Given the description of an element on the screen output the (x, y) to click on. 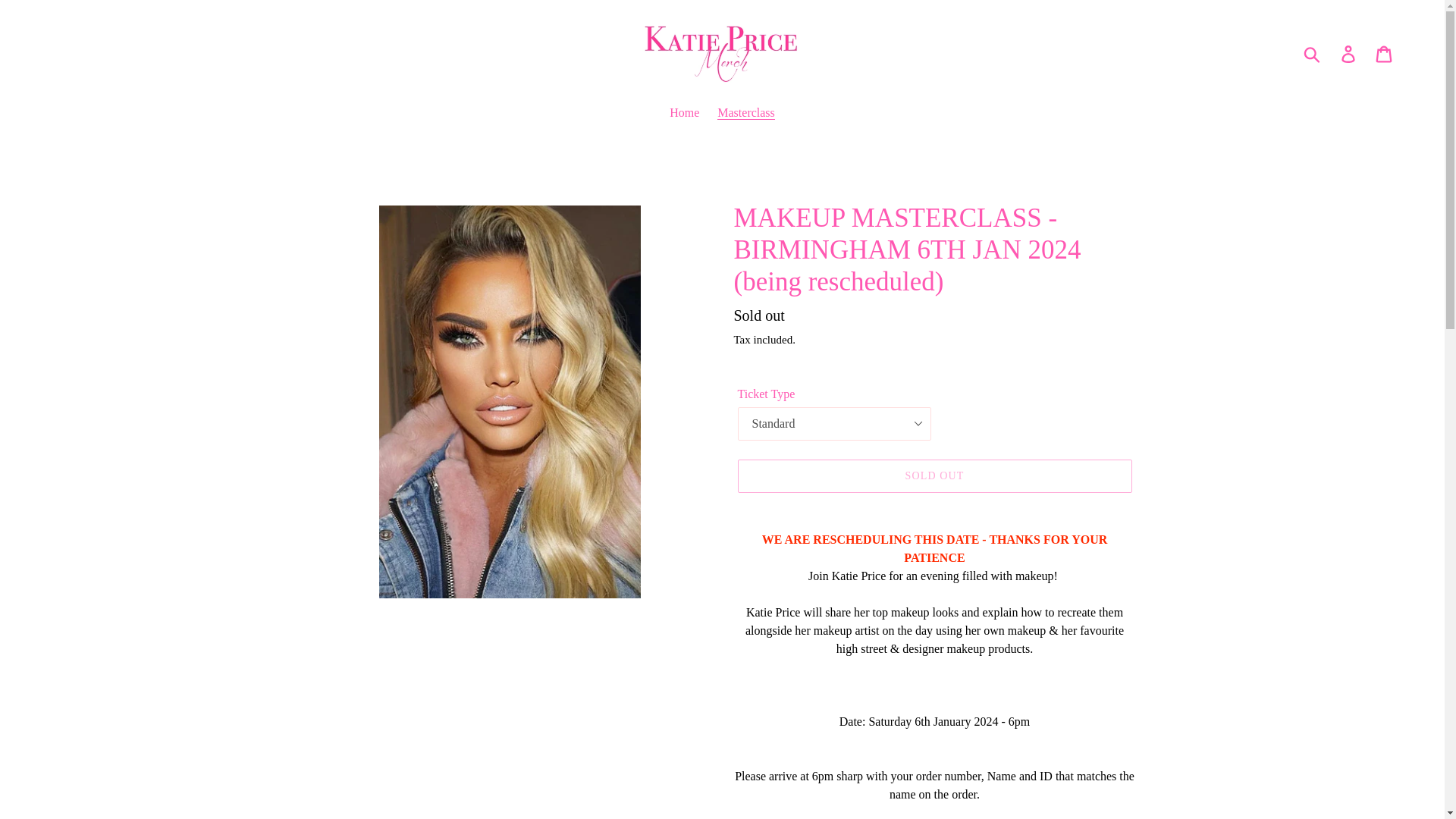
Cart (1385, 53)
Home (684, 114)
SOLD OUT (933, 476)
Submit (1313, 53)
Log in (1349, 53)
Masterclass (746, 114)
